Given the description of an element on the screen output the (x, y) to click on. 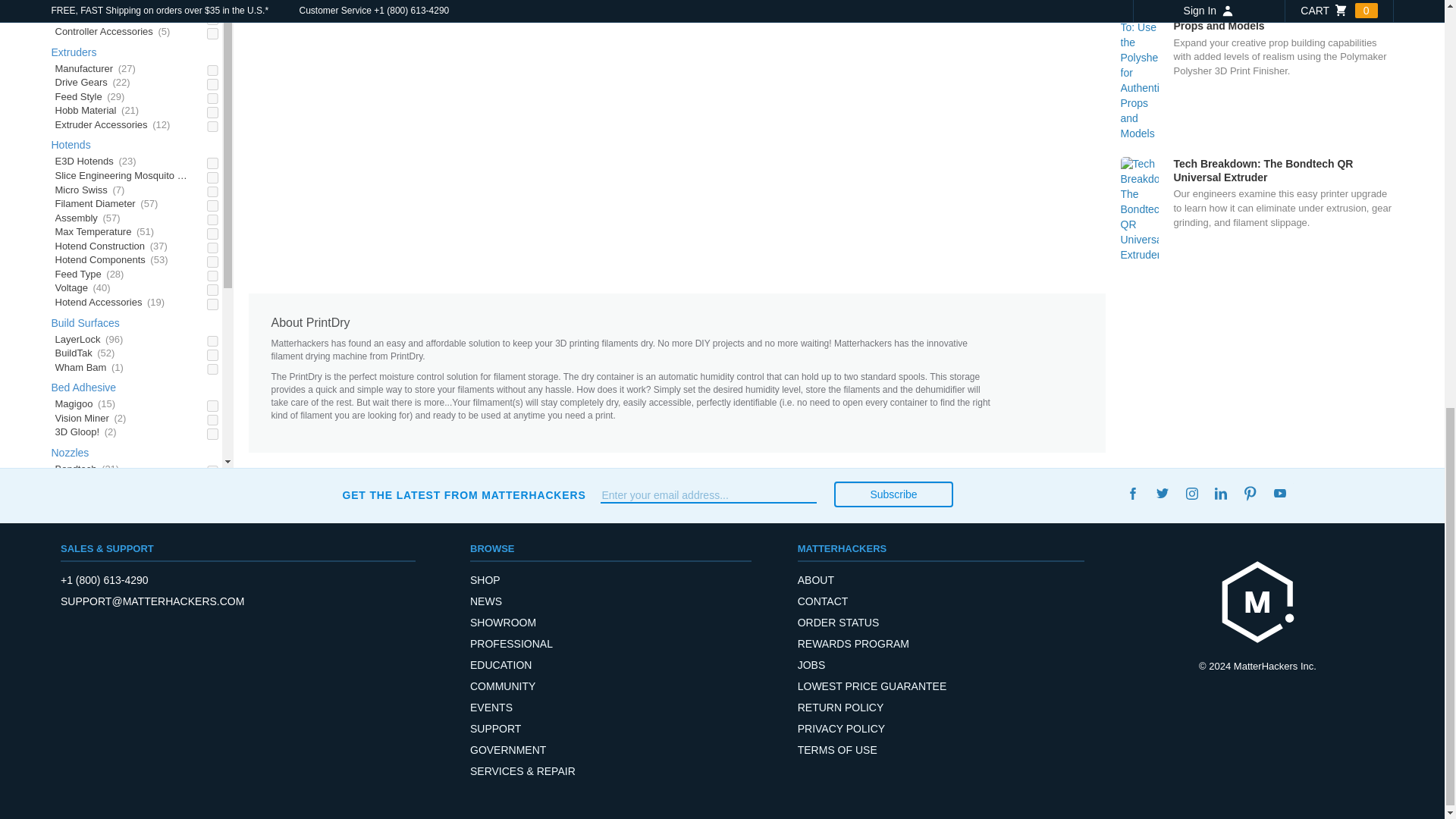
How To: Use the Polysher for Authentic Props and Models (1257, 72)
Tech Breakdown: The Bondtech QR Universal Extruder  (1257, 209)
